Given the description of an element on the screen output the (x, y) to click on. 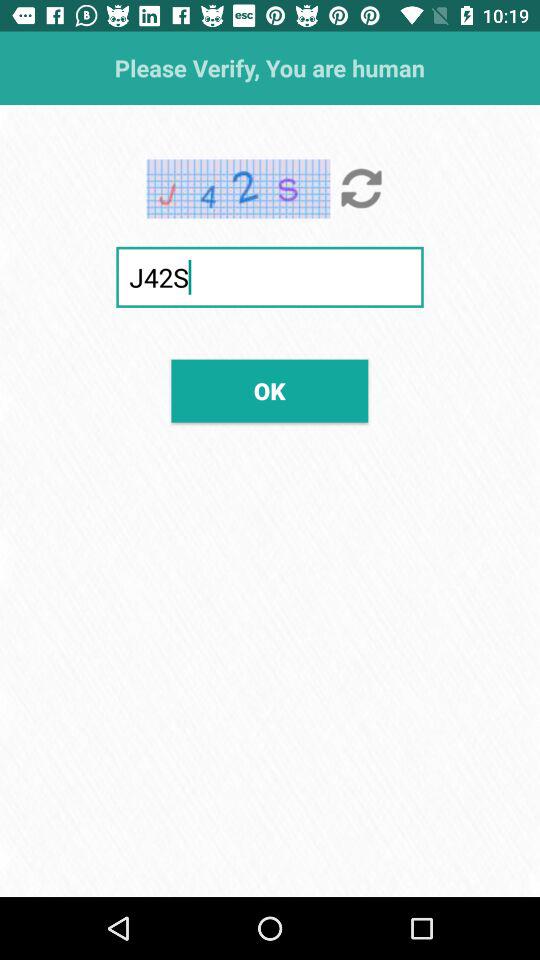
launch the item above ok item (269, 276)
